Given the description of an element on the screen output the (x, y) to click on. 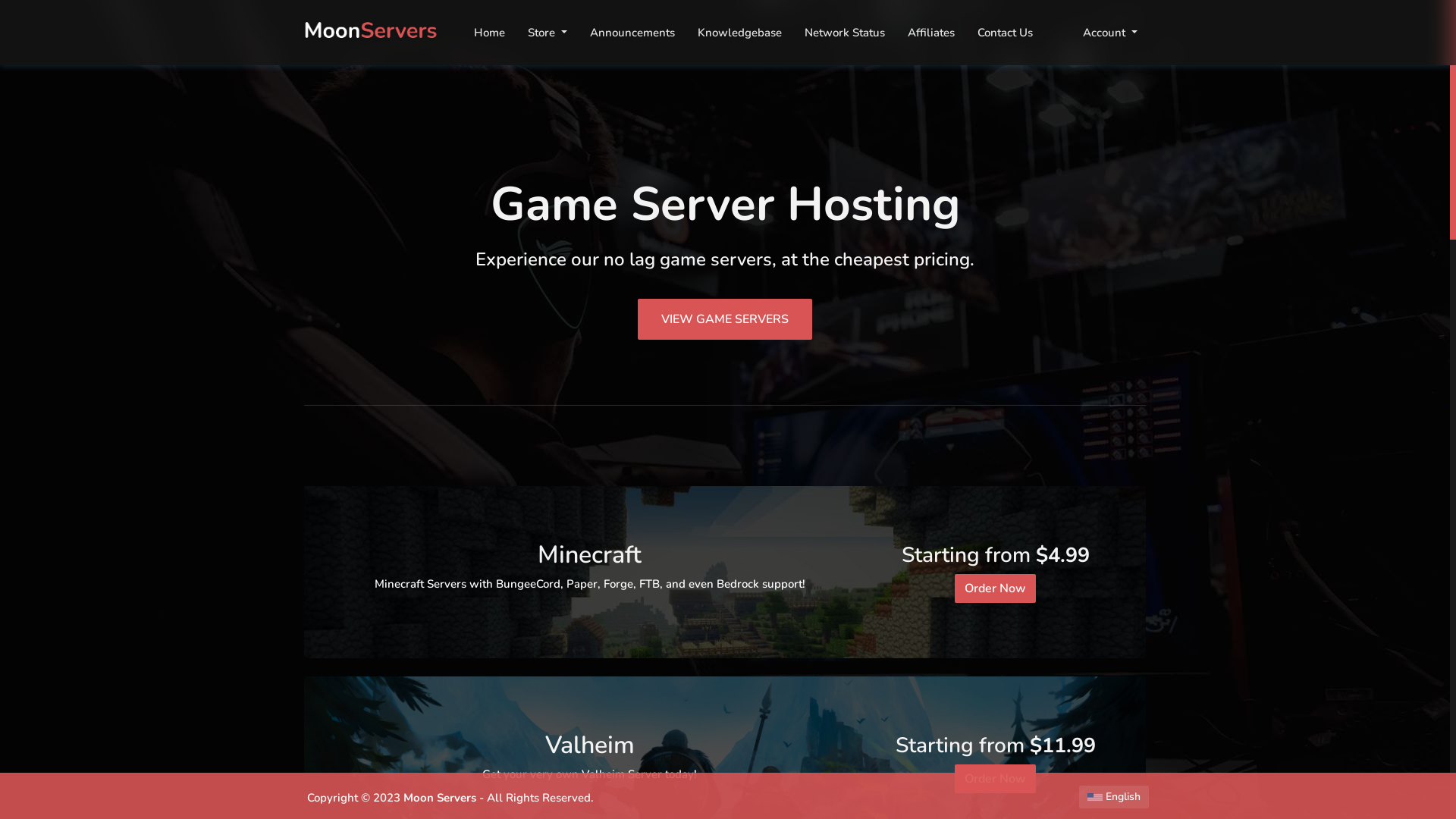
Knowledgebase Element type: text (739, 32)
Order Now Element type: text (994, 588)
Affiliates Element type: text (931, 32)
Order Now Element type: text (994, 778)
VIEW GAME SERVERS Element type: text (724, 318)
VIEW GAME SERVERS Element type: text (724, 315)
Store Element type: text (547, 32)
Home Element type: text (489, 32)
Account Element type: text (1109, 32)
Order Now Element type: text (994, 777)
Network Status Element type: text (844, 32)
Contact Us Element type: text (1005, 32)
Order Now Element type: text (994, 587)
English Element type: text (1113, 796)
Announcements Element type: text (632, 32)
